Given the description of an element on the screen output the (x, y) to click on. 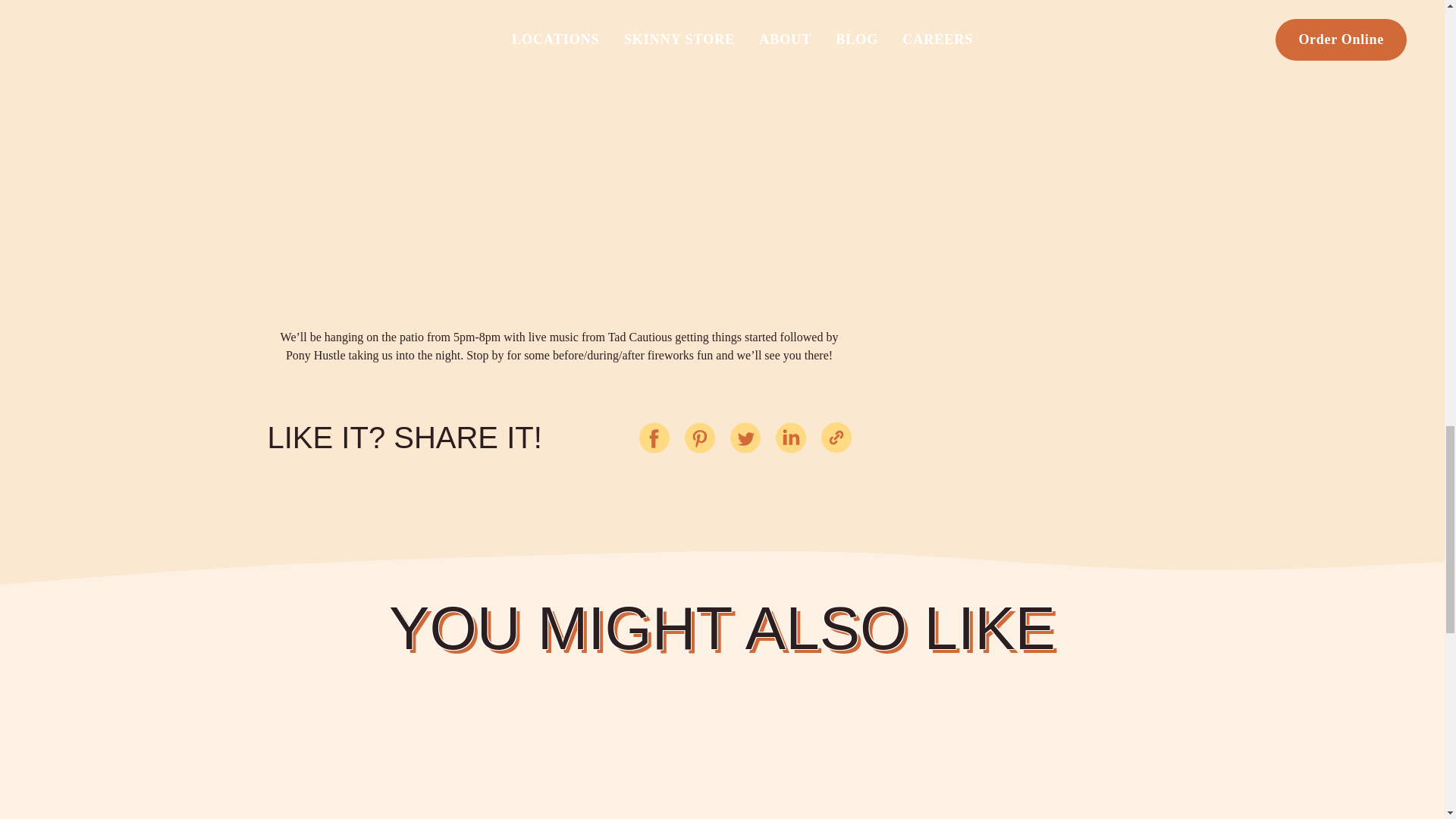
Share this post on Twitter (744, 437)
Share this post on LinkedIn (789, 437)
Share this post on Facebook (653, 437)
Pin this post on Pinterest (699, 437)
Copy this post to your clipboard (835, 437)
